Given the description of an element on the screen output the (x, y) to click on. 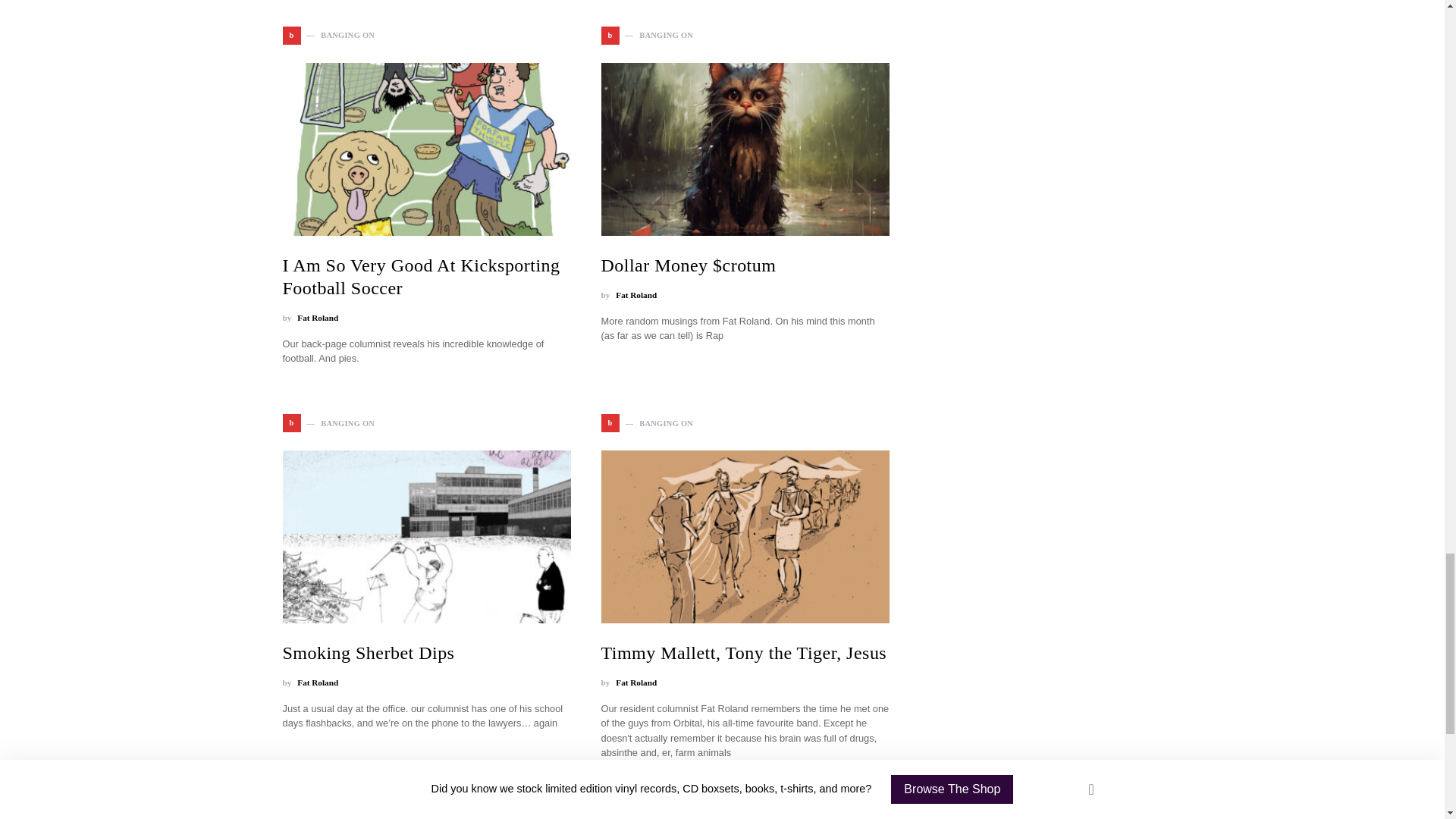
View all posts by Fat Roland (317, 682)
View all posts by Fat Roland (317, 318)
View all posts by Fat Roland (635, 295)
View all posts by Fat Roland (635, 682)
